Given the description of an element on the screen output the (x, y) to click on. 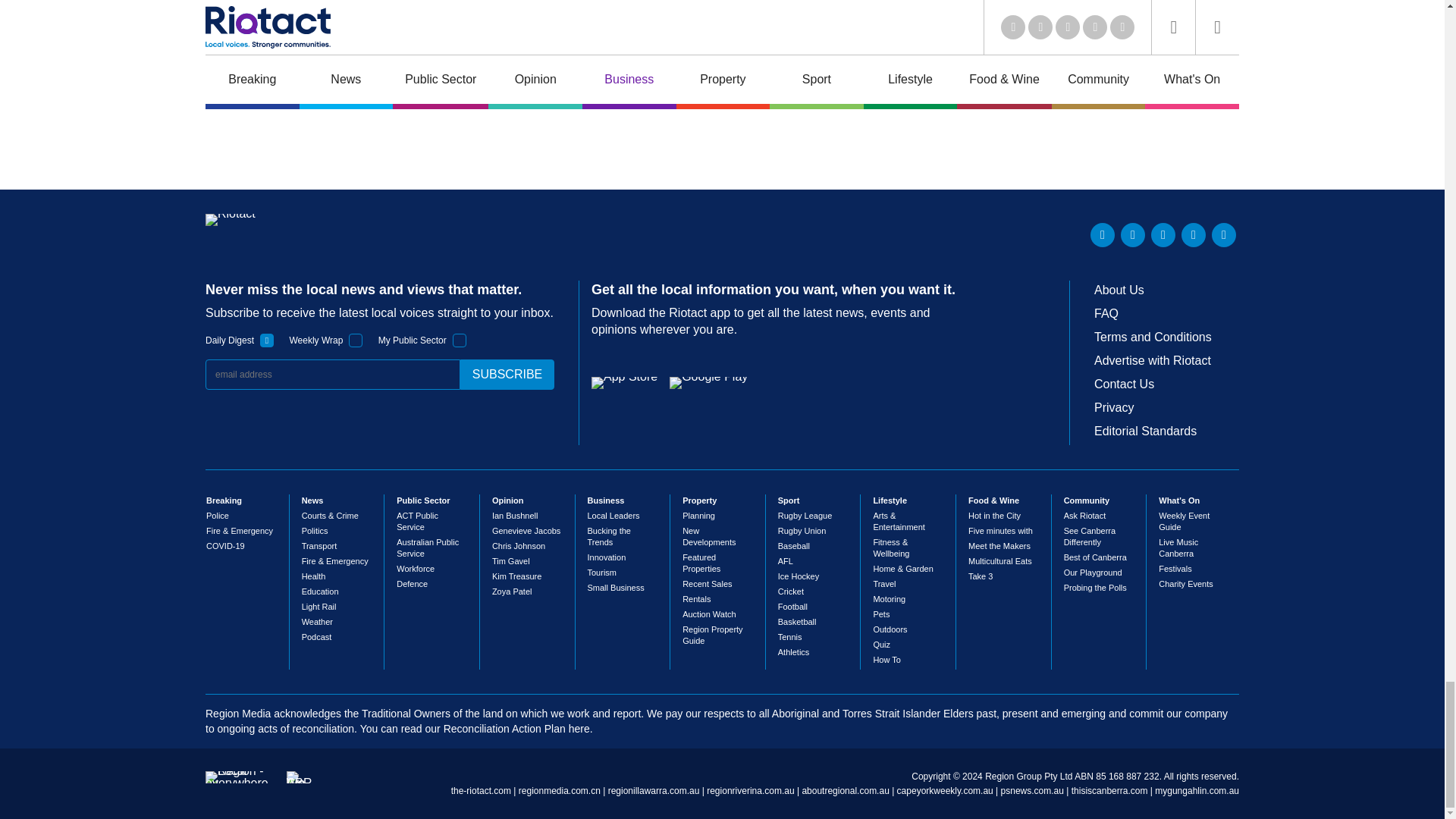
subscribe (507, 374)
1 (355, 340)
1 (458, 340)
Twitter (1132, 234)
1 (266, 340)
LinkedIn (1102, 234)
